Given the description of an element on the screen output the (x, y) to click on. 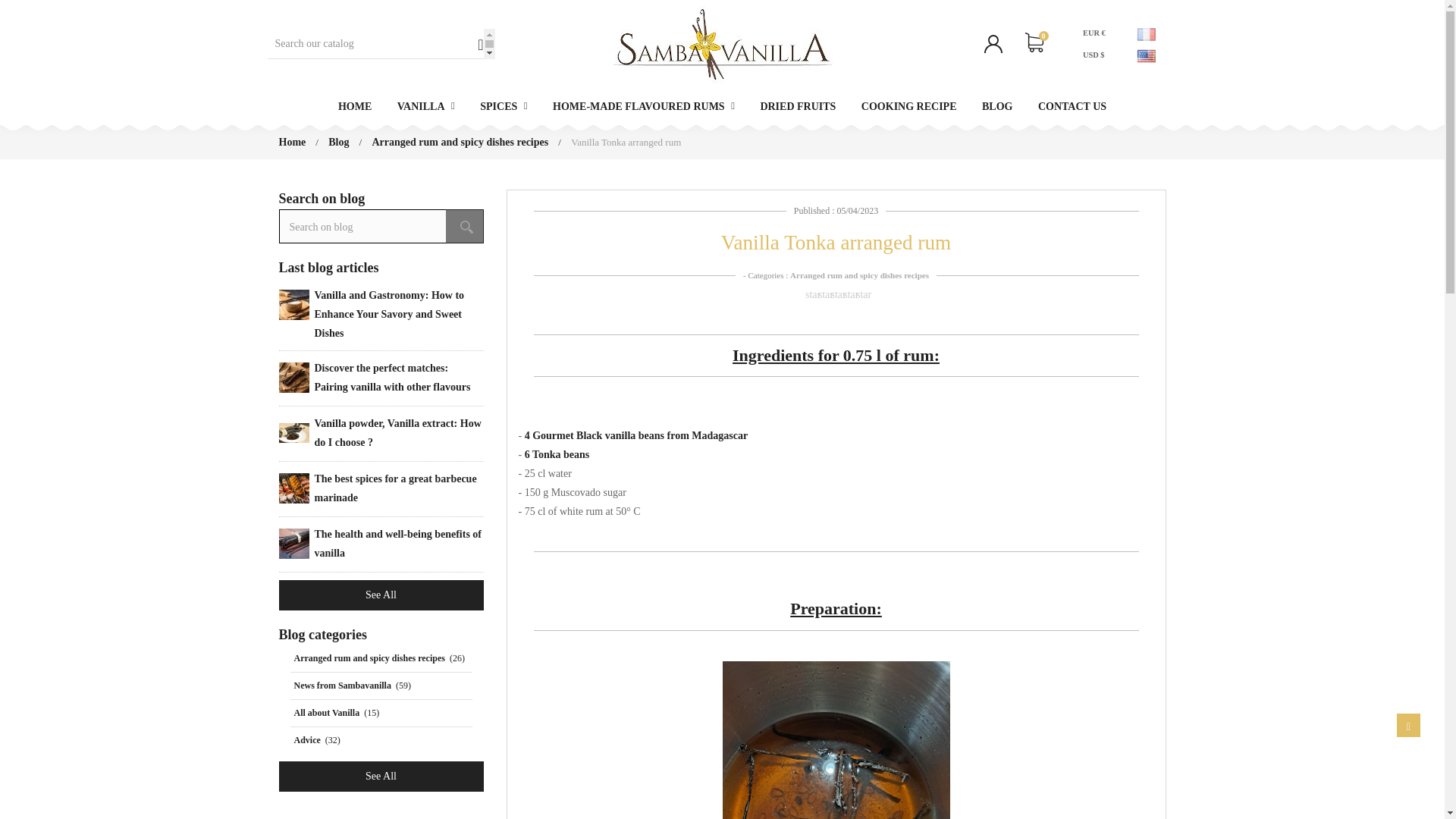
HOME (354, 105)
HOME-MADE FLAVOURED RUMS (643, 105)
VANILLA (425, 105)
0 (1035, 43)
DRIED FRUITS (797, 105)
Euro (1096, 34)
SPICES (503, 105)
